Given the description of an element on the screen output the (x, y) to click on. 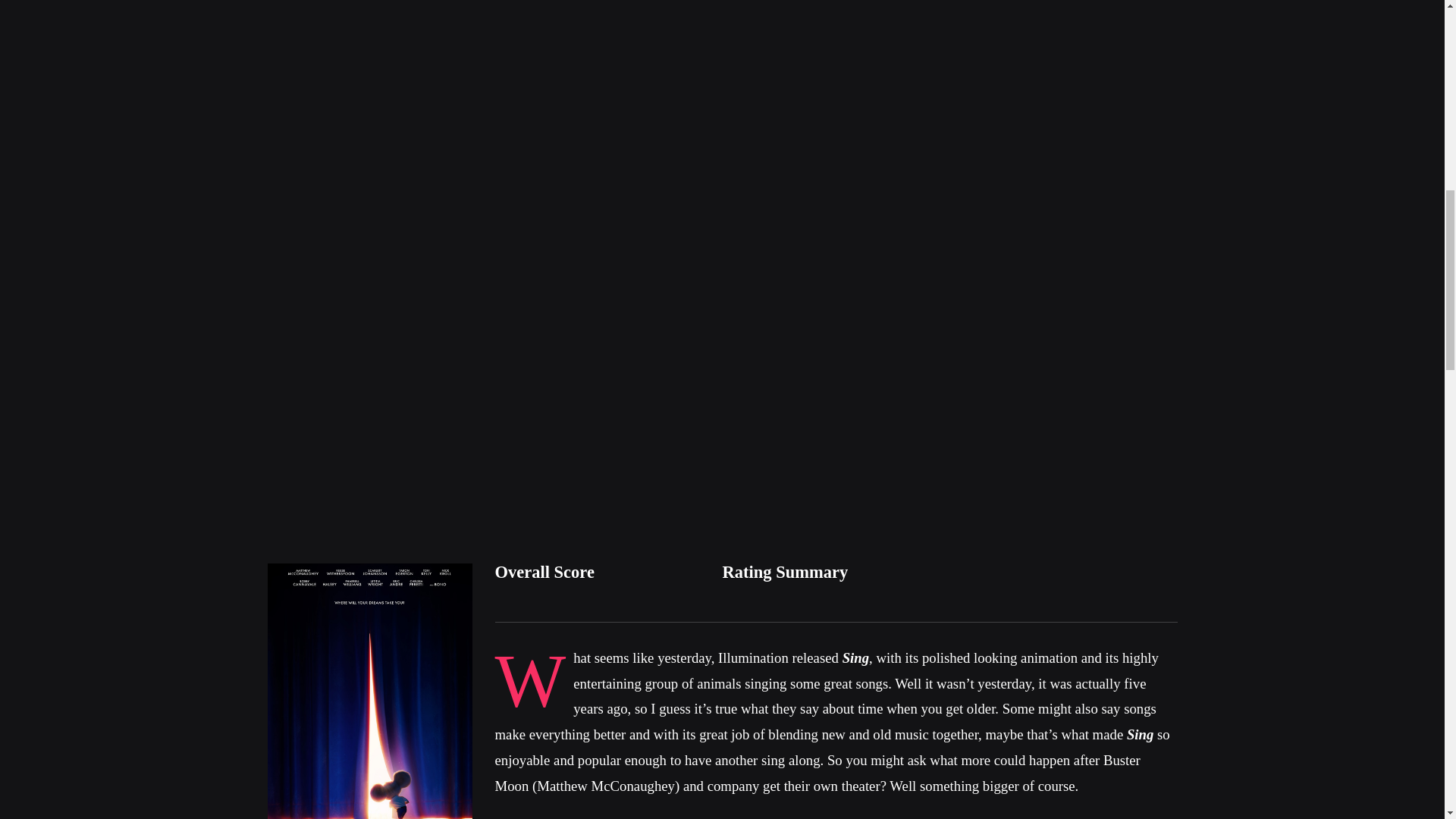
Poster image (368, 690)
